Given the description of an element on the screen output the (x, y) to click on. 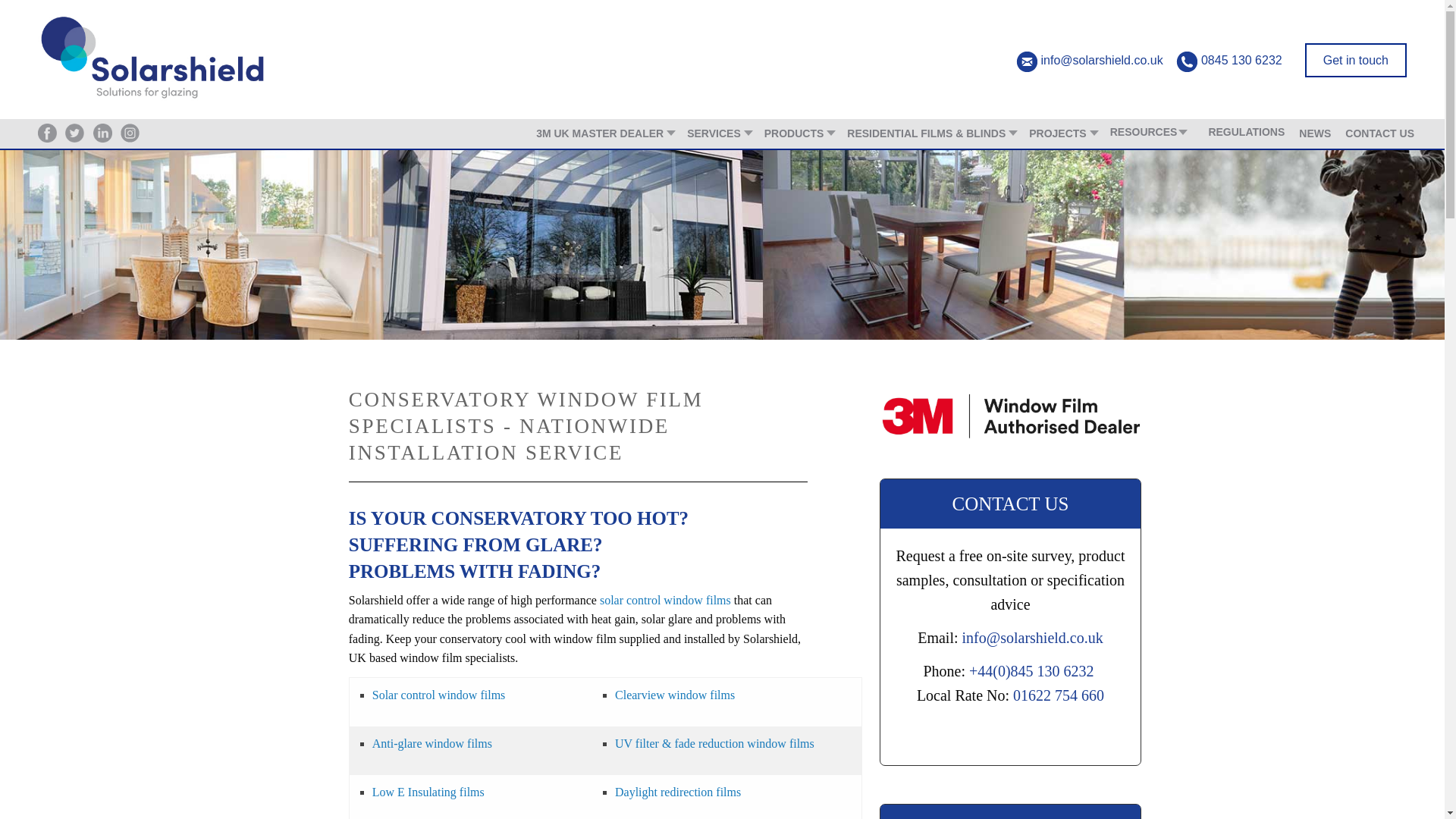
0845 130 6232 (1241, 60)
3M UK MASTER DEALER (603, 136)
PRODUCTS (798, 136)
SERVICES (718, 136)
Get in touch (1355, 59)
